Given the description of an element on the screen output the (x, y) to click on. 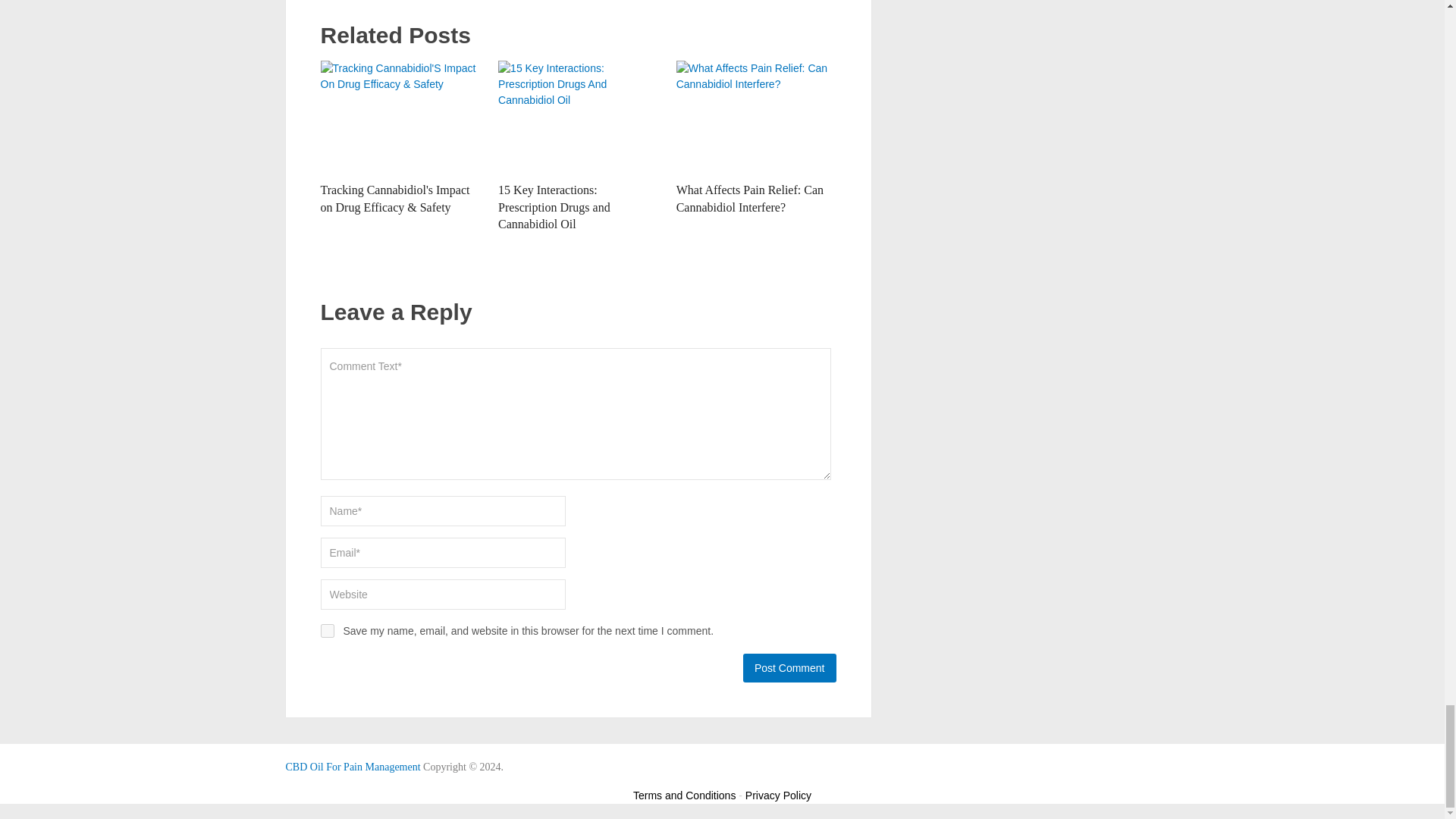
What Affects Pain Relief: Can Cannabidiol Interfere? (750, 197)
What Affects Pain Relief: Can Cannabidiol Interfere? (756, 117)
Post Comment (788, 667)
15 Key Interactions: Prescription Drugs and Cannabidiol Oil (553, 206)
15 Key Interactions: Prescription Drugs and Cannabidiol Oil (577, 117)
15 Key Interactions: Prescription Drugs and Cannabidiol Oil (553, 206)
Post Comment (788, 667)
What Affects Pain Relief: Can Cannabidiol Interfere? (750, 197)
yes (326, 631)
